Given the description of an element on the screen output the (x, y) to click on. 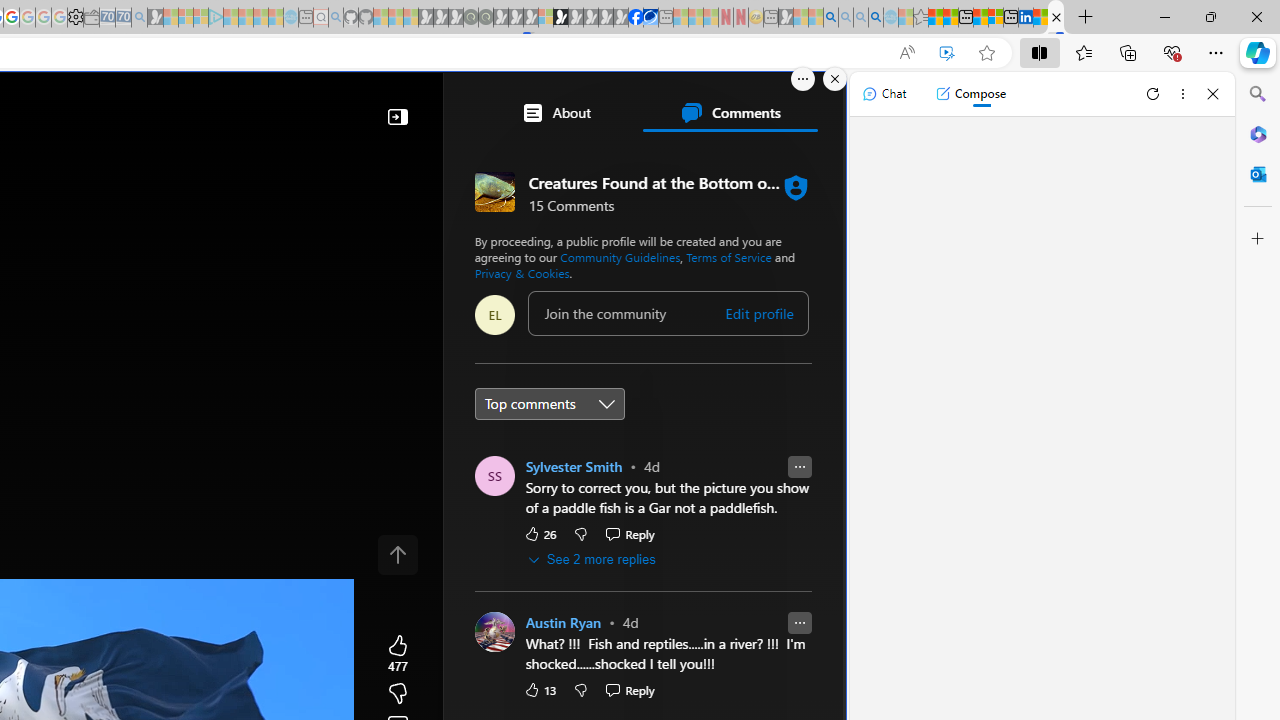
Sign in to your account - Sleeping (545, 17)
Home | Sky Blue Bikes - Sky Blue Bikes - Sleeping (291, 17)
Enhance video (946, 53)
AQI & Health | AirNow.gov (650, 17)
